Given the description of an element on the screen output the (x, y) to click on. 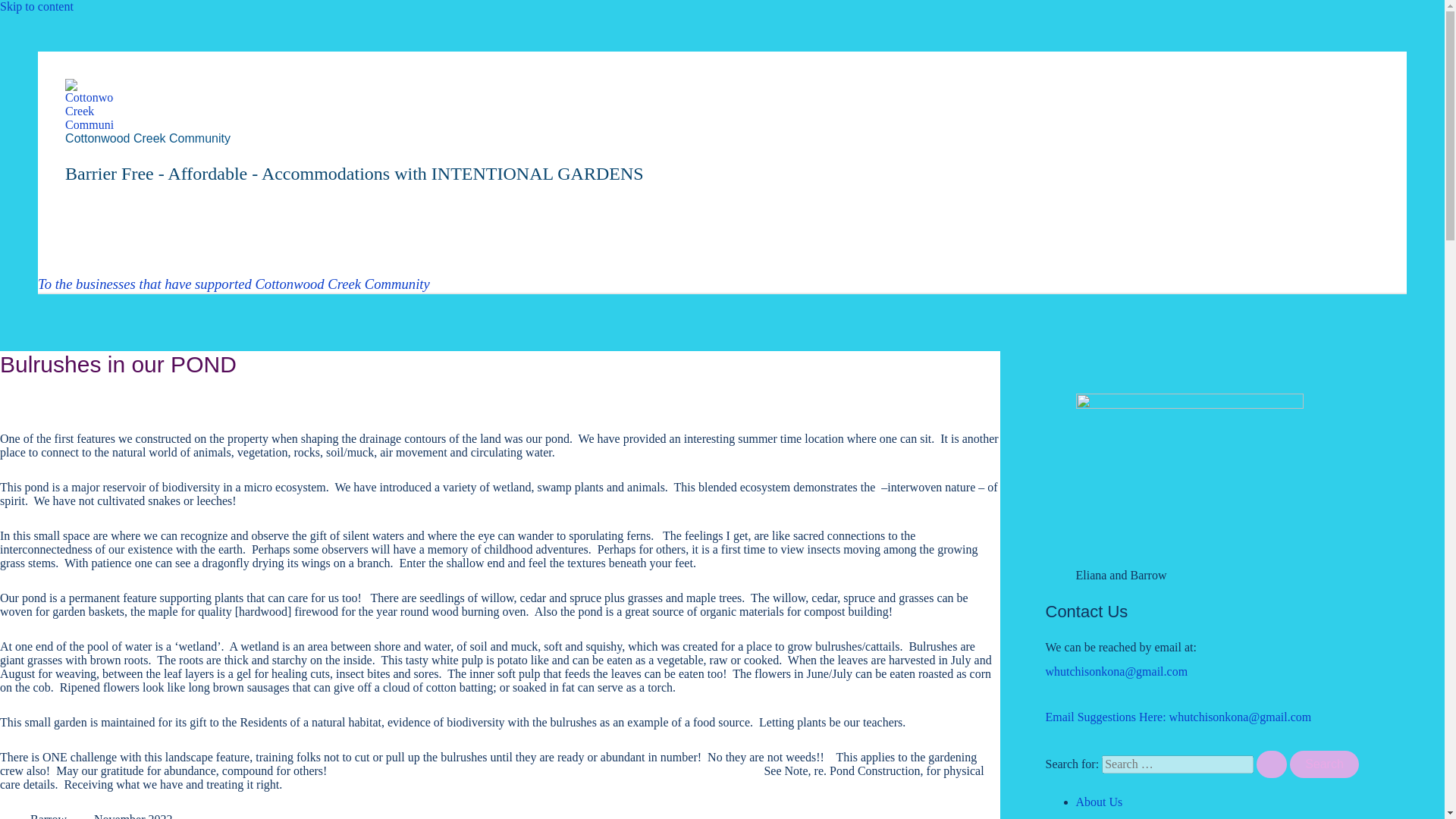
Skip to content (37, 6)
Search (1324, 764)
Search (1324, 764)
Search (1324, 764)
Cottonwood Creek Community (147, 137)
About Us (1098, 801)
Skip to content (37, 6)
